Given the description of an element on the screen output the (x, y) to click on. 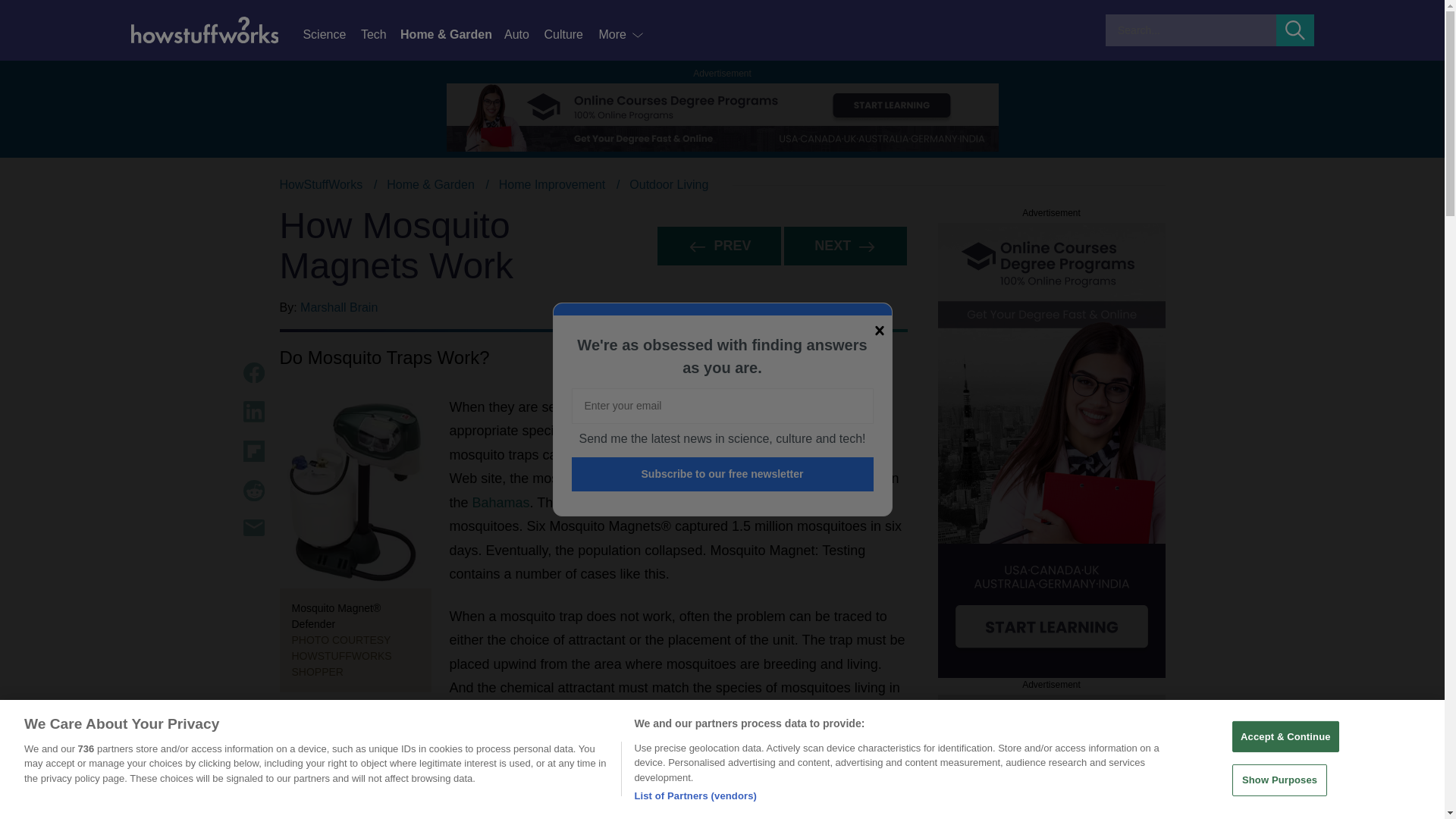
Tech (380, 34)
Culture (570, 34)
HowStuffWorks (320, 184)
Science (330, 34)
Share Content on Reddit (253, 490)
More (621, 34)
Subscribe to our free newsletter (722, 474)
Share Content on Facebook (253, 372)
Auto (523, 34)
Submit Search (1295, 29)
Share Content via Email (253, 527)
Share Content on LinkedIn (253, 411)
Share Content on Flipboard (253, 450)
